Given the description of an element on the screen output the (x, y) to click on. 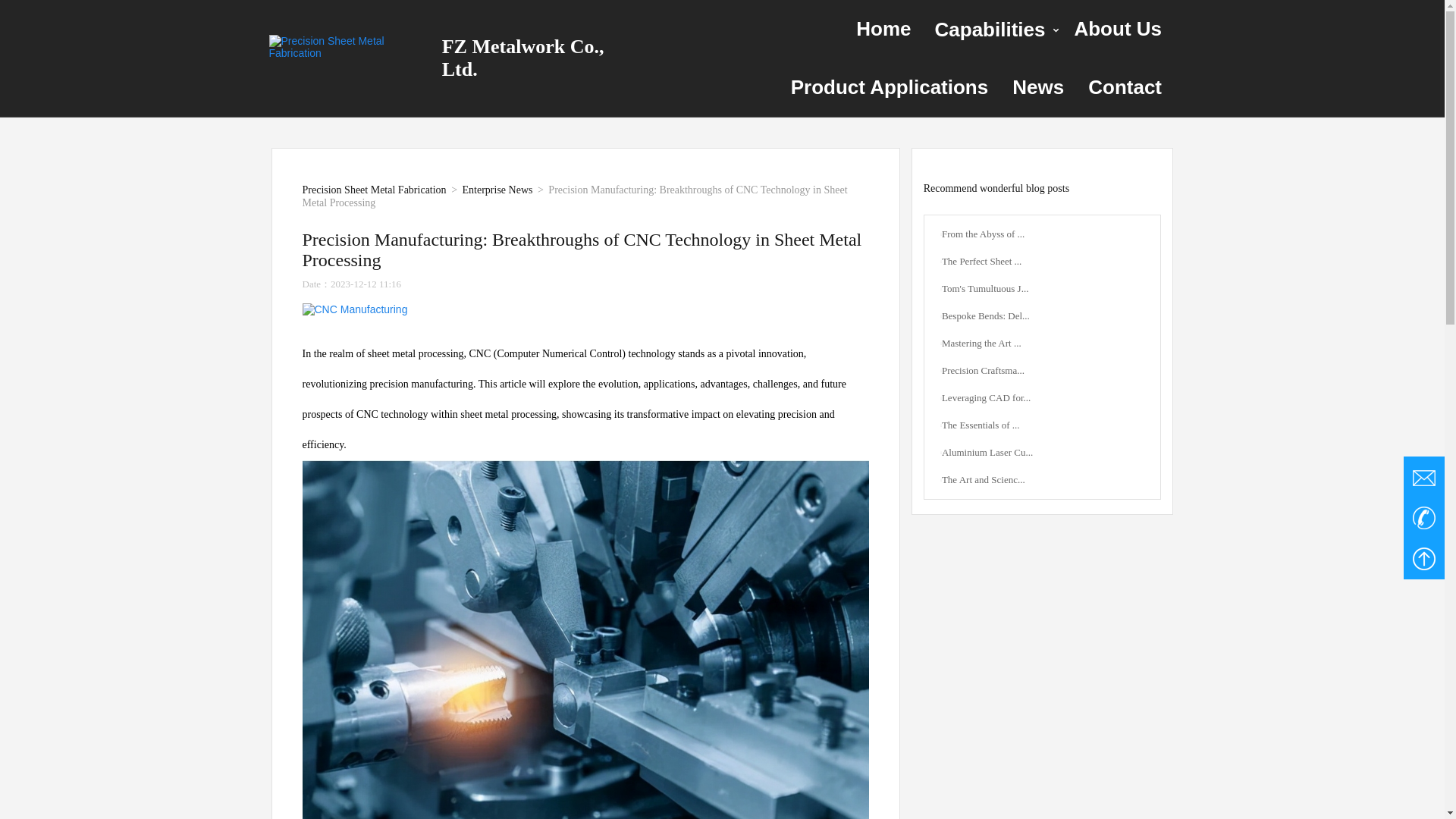
Enterprise News (376, 189)
Product Applications (889, 87)
Contact (1125, 87)
From the Abyss of ... (1114, 233)
Precision Sheet Metal Fabrication (242, 189)
Capabilities (992, 28)
